Given the description of an element on the screen output the (x, y) to click on. 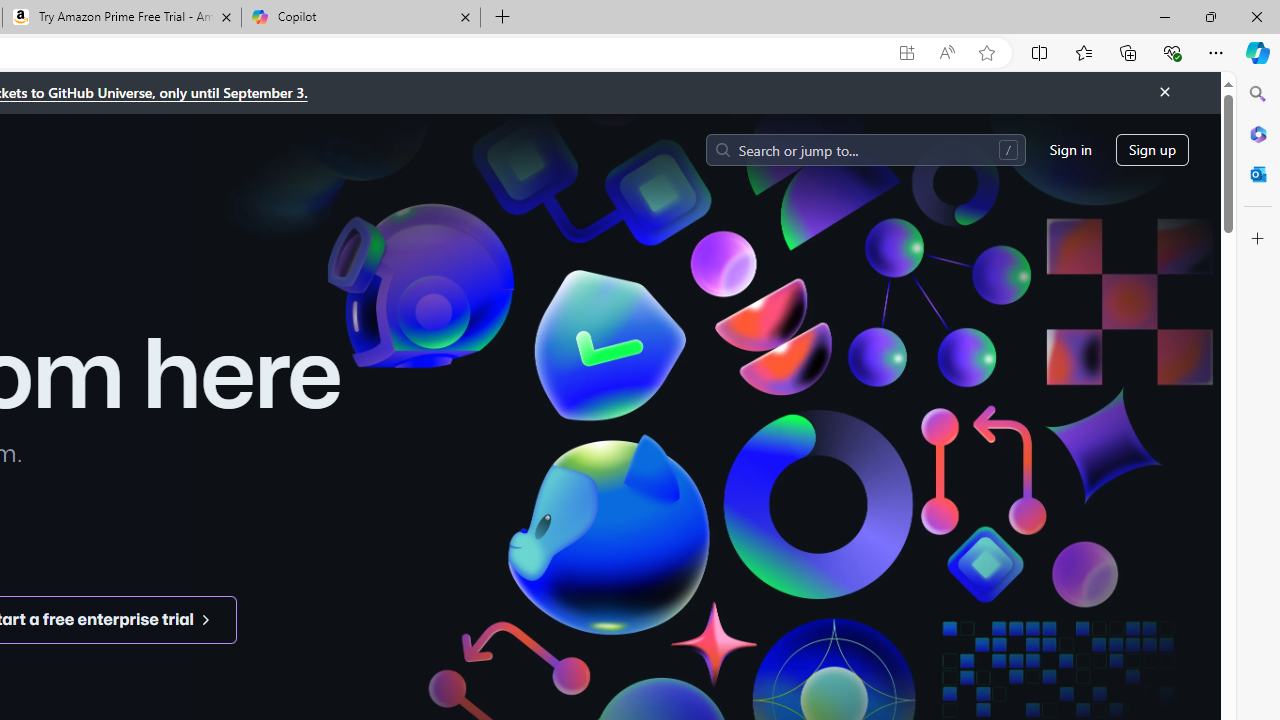
Class: octicon arrow-symbol-mktg (205, 619)
Customize (1258, 239)
Sign up (1152, 149)
Close Outlook pane (1258, 174)
App available. Install GitHub (906, 53)
Copilot (360, 17)
